Given the description of an element on the screen output the (x, y) to click on. 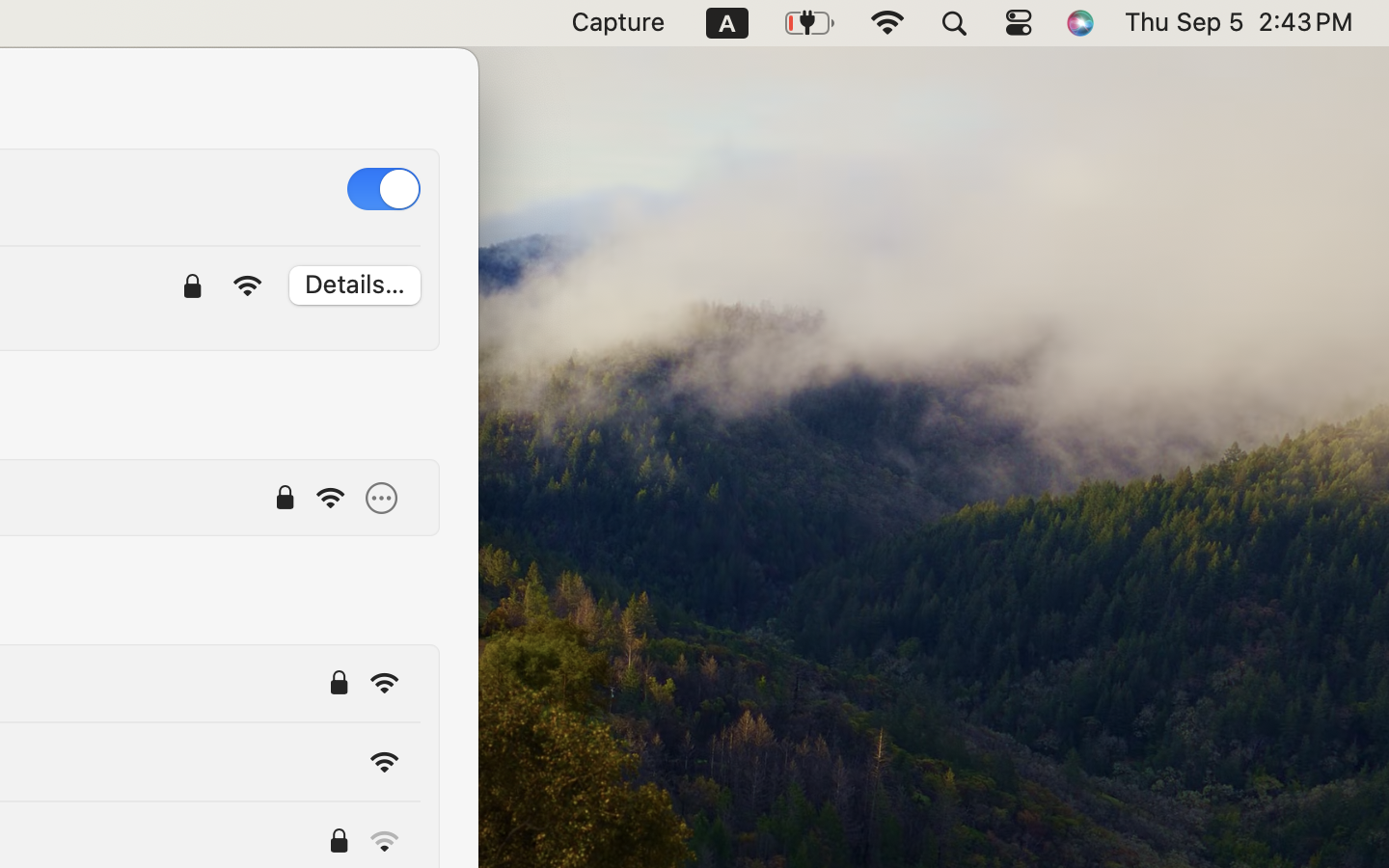
1 Element type: AXCheckBox (383, 188)
